Given the description of an element on the screen output the (x, y) to click on. 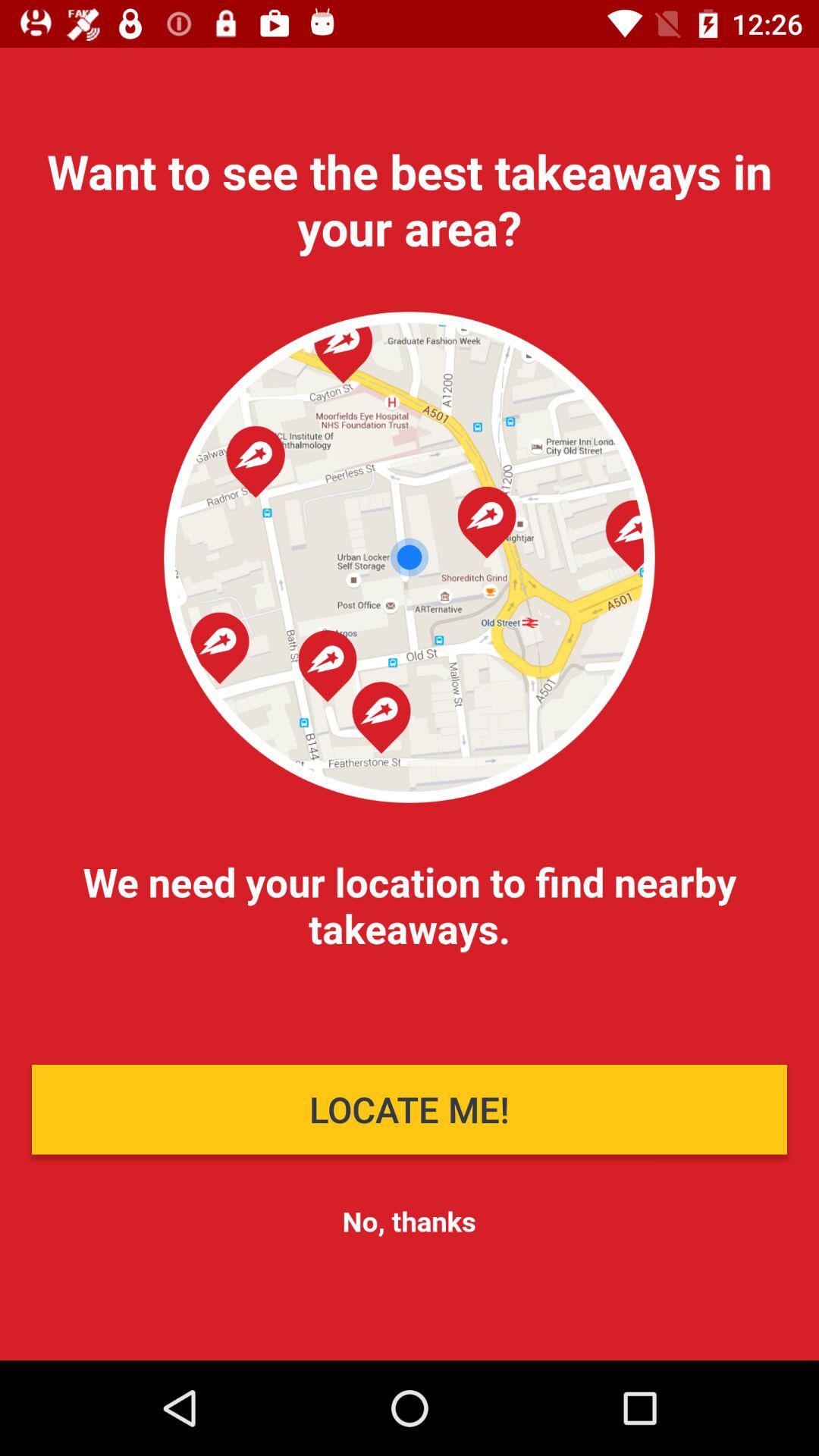
click the icon below the we need your item (409, 1109)
